Given the description of an element on the screen output the (x, y) to click on. 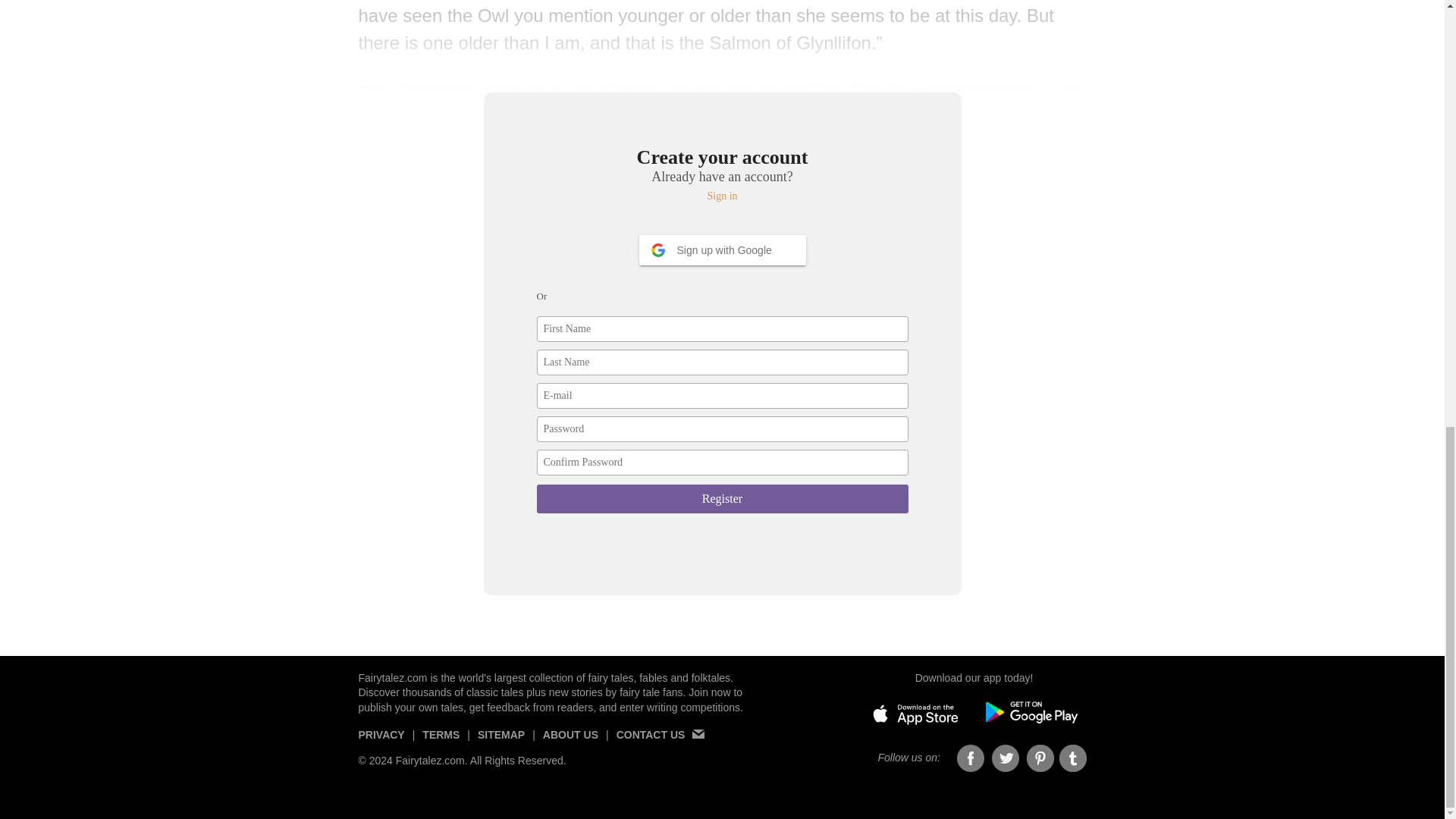
Privacy (381, 740)
Register (722, 498)
Sign in (722, 196)
Sitemap (500, 740)
Follow us on Tumblr (1072, 758)
Follow us on Twitter (1006, 758)
Fairytalez.com (392, 677)
Follow us on  Facebook (971, 758)
TERMS (441, 740)
Sign up with Google (722, 250)
PRIVACY (381, 740)
Follow us on Pinterest (1041, 758)
